Given the description of an element on the screen output the (x, y) to click on. 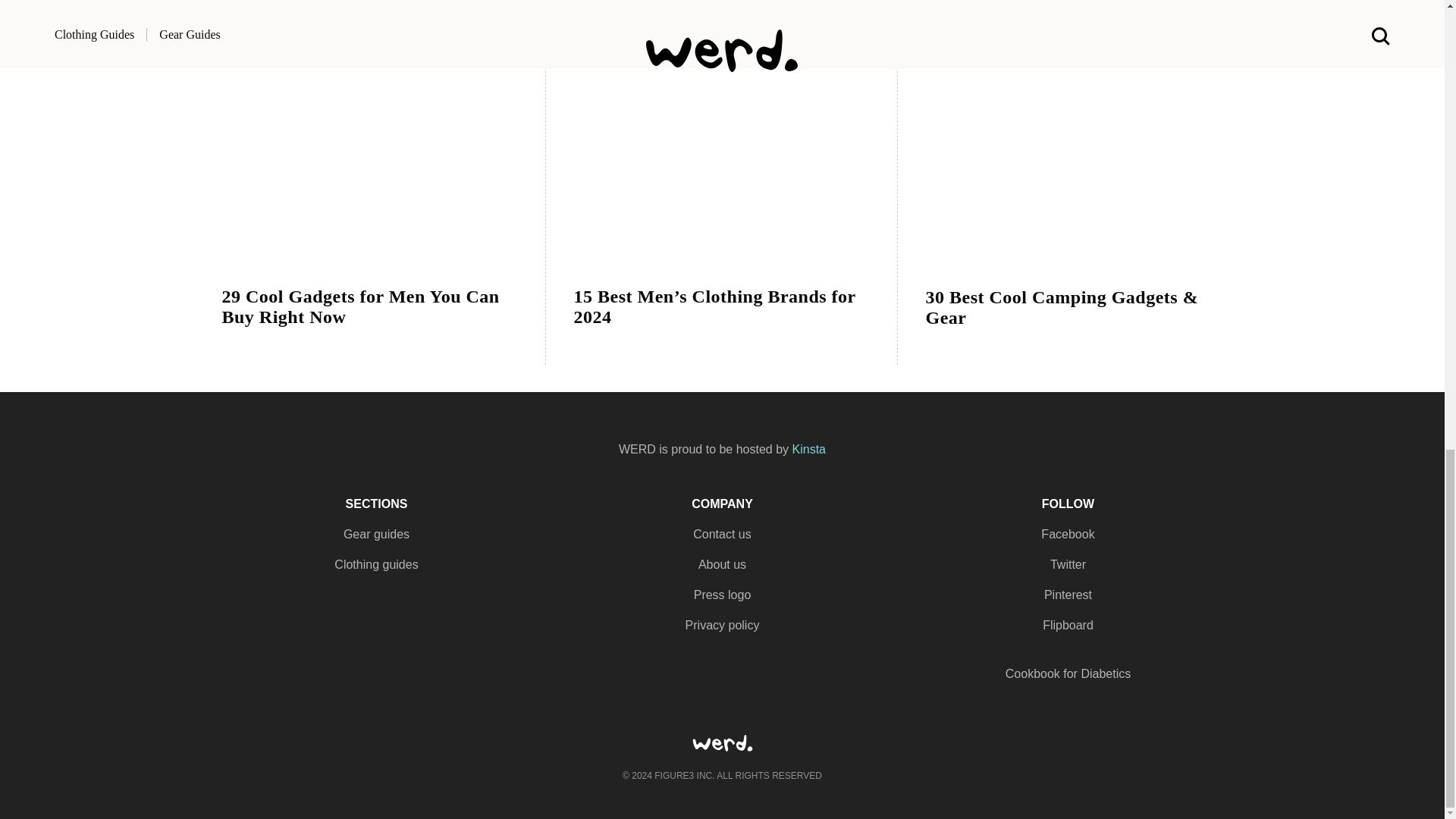
Privacy policy (721, 625)
Contact us (721, 534)
Read More (721, 149)
29 Cool Gadgets for Men You Can Buy Right Now (369, 319)
Gear guides (376, 534)
Twitter (1067, 564)
Facebook (1067, 534)
Read More (369, 149)
Clothing guides (376, 564)
Read More (1073, 150)
